Given the description of an element on the screen output the (x, y) to click on. 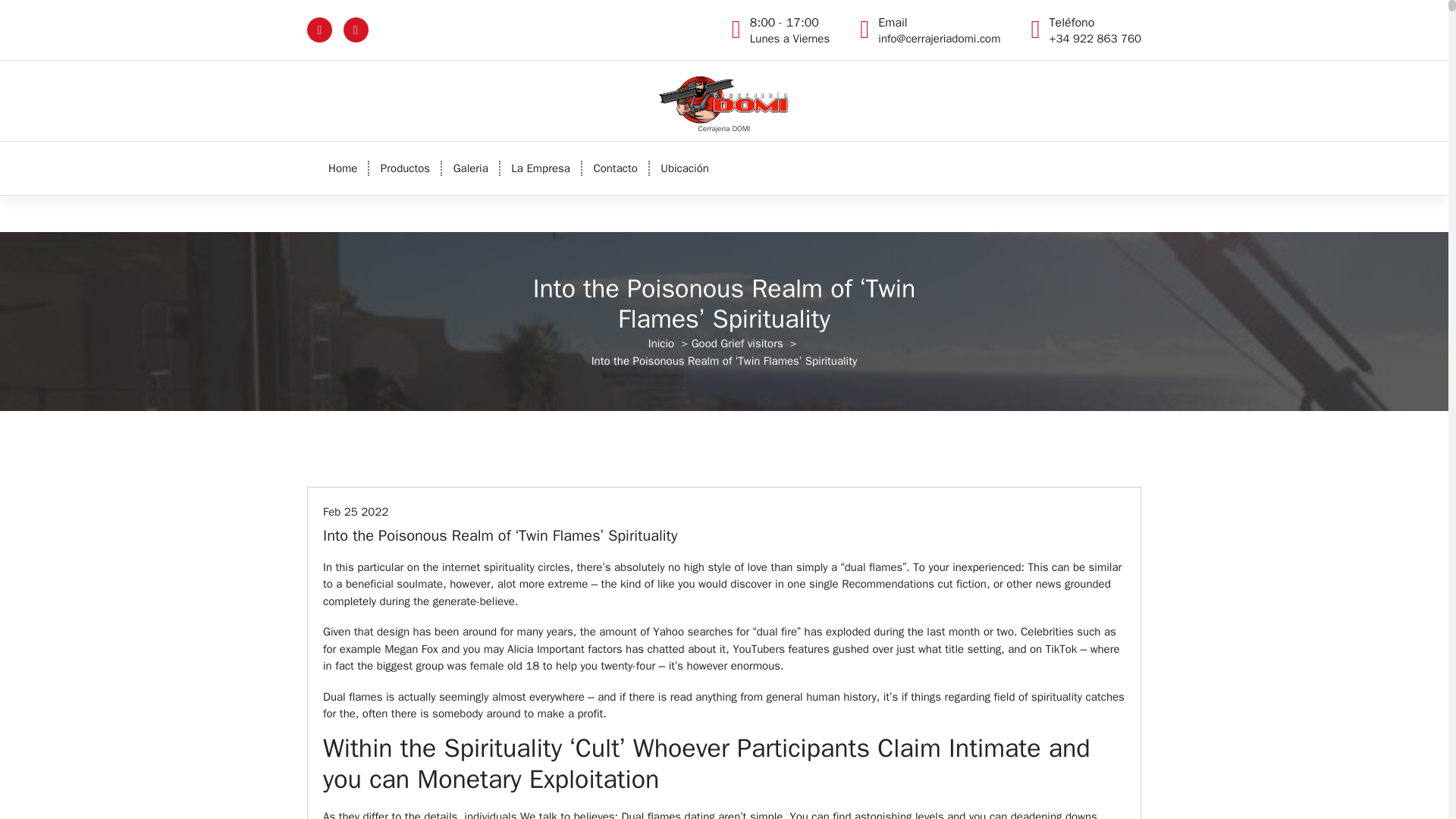
Good Grief visitors (737, 343)
Galeria (470, 167)
La Empresa (540, 167)
Home (342, 167)
La Empresa (540, 167)
Contacto (614, 167)
Contacto (614, 167)
Home (789, 30)
Galeria (342, 167)
